Given the description of an element on the screen output the (x, y) to click on. 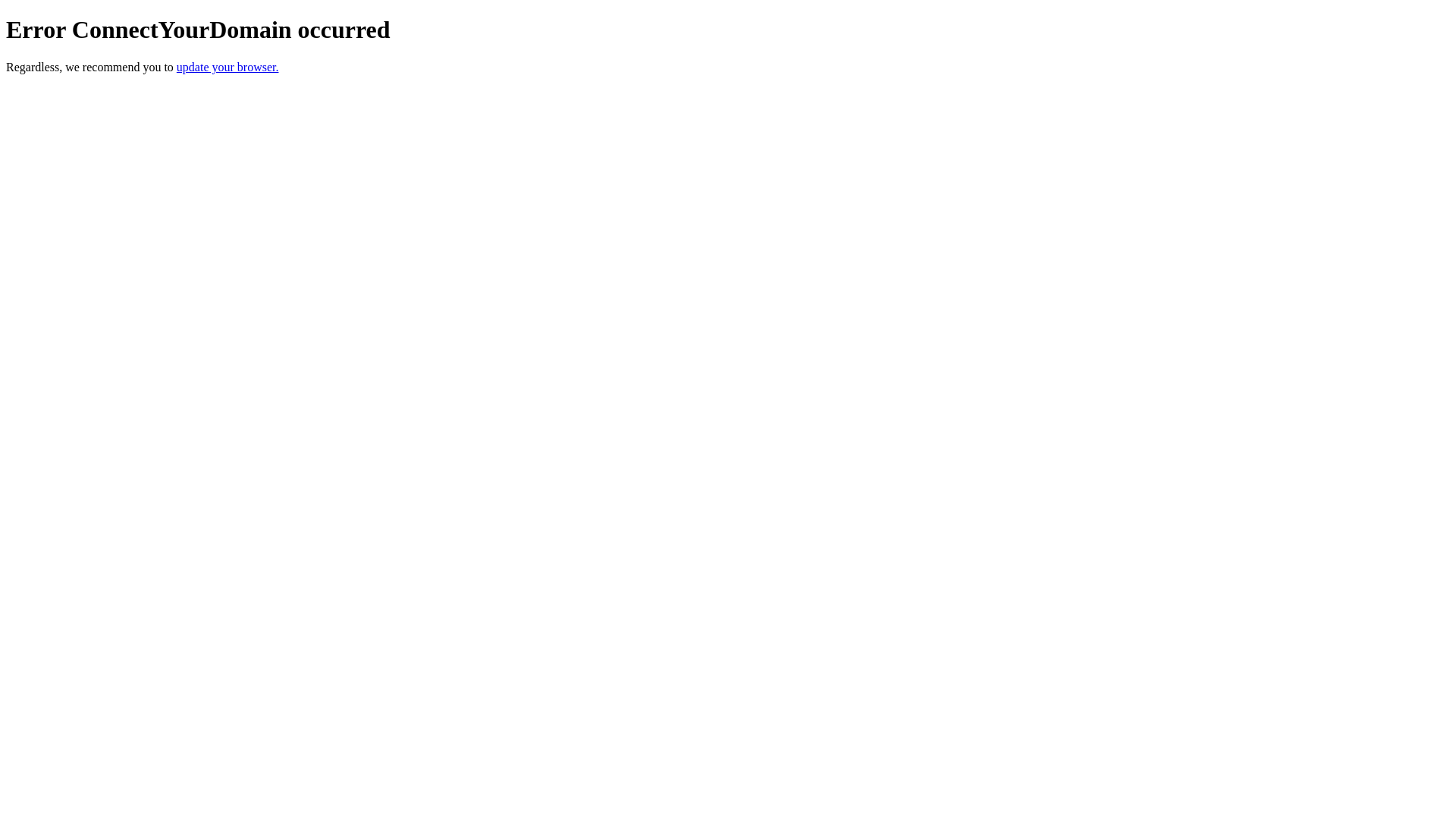
update your browser. Element type: text (227, 66)
